Given the description of an element on the screen output the (x, y) to click on. 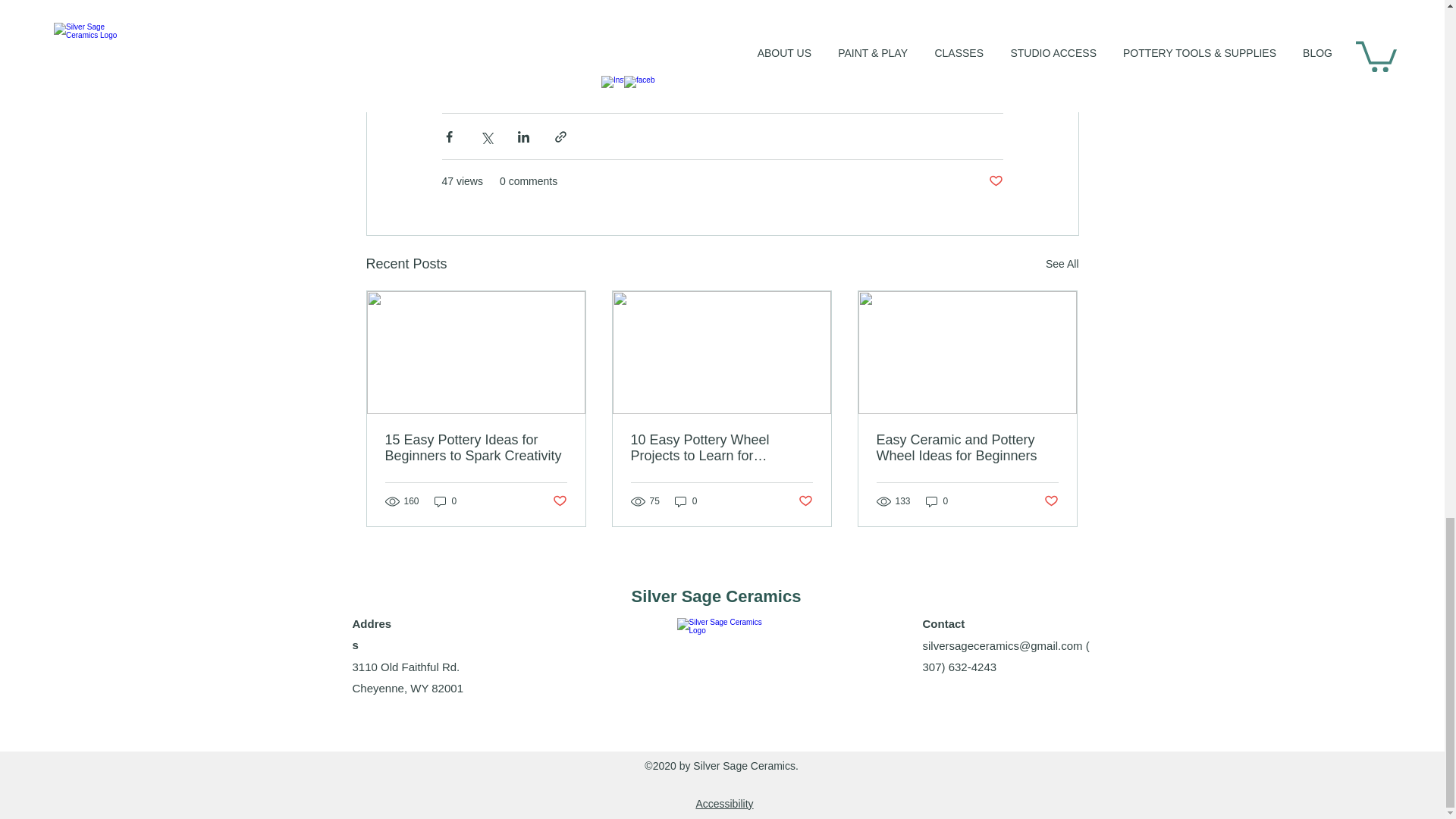
forms and templates (722, 23)
See All (1061, 264)
0 (937, 501)
classes (763, 5)
Post not marked as liked (995, 181)
0 (685, 501)
Post not marked as liked (558, 501)
Post not marked as liked (804, 501)
15 Easy Pottery Ideas for Beginners to Spark Creativity (476, 448)
Easy Ceramic and Pottery Wheel Ideas for Beginners (967, 448)
0 (445, 501)
10 Easy Pottery Wheel Projects to Learn for Beginners (721, 448)
